Given the description of an element on the screen output the (x, y) to click on. 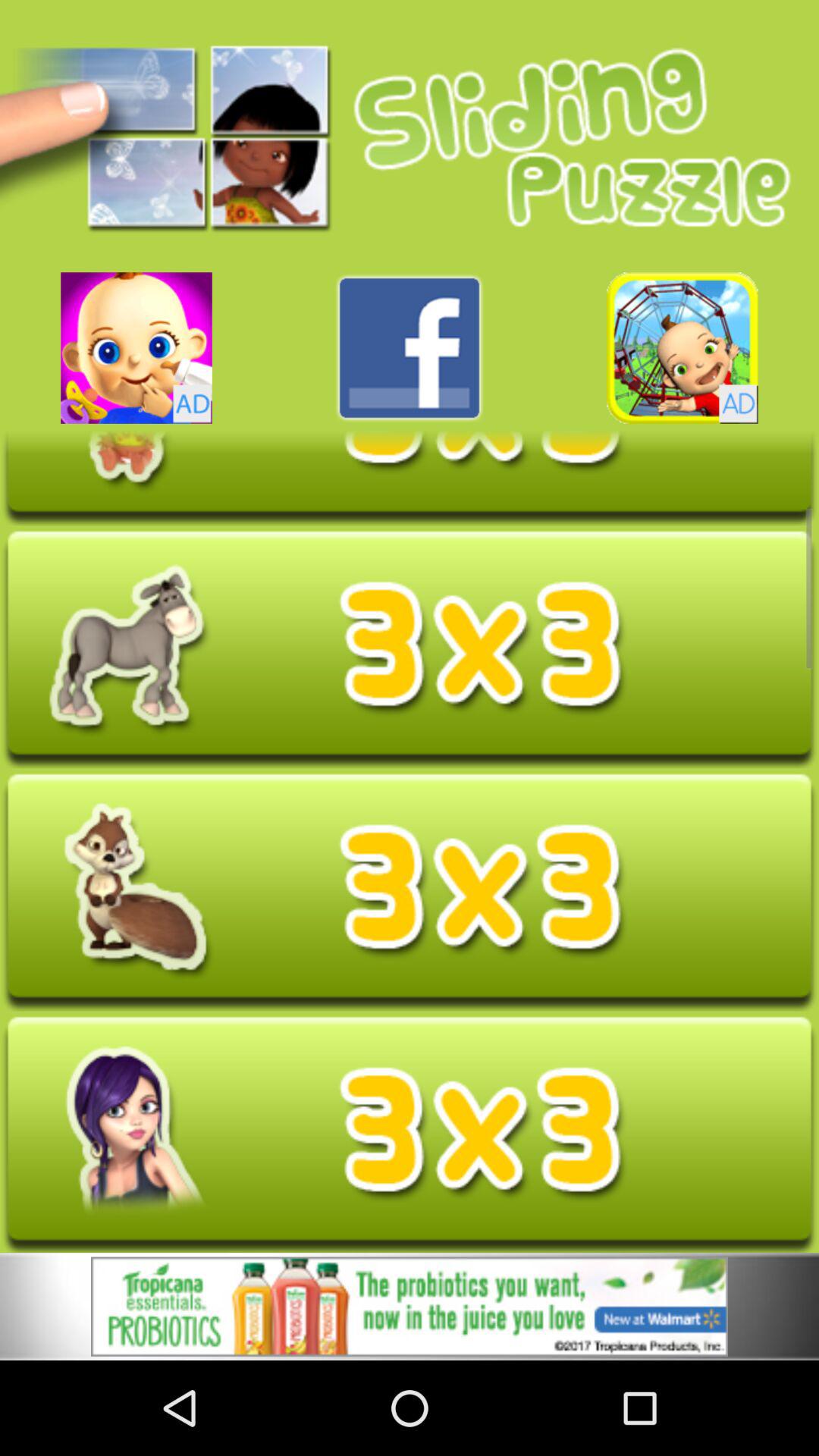
view advertisement in new app (136, 347)
